Given the description of an element on the screen output the (x, y) to click on. 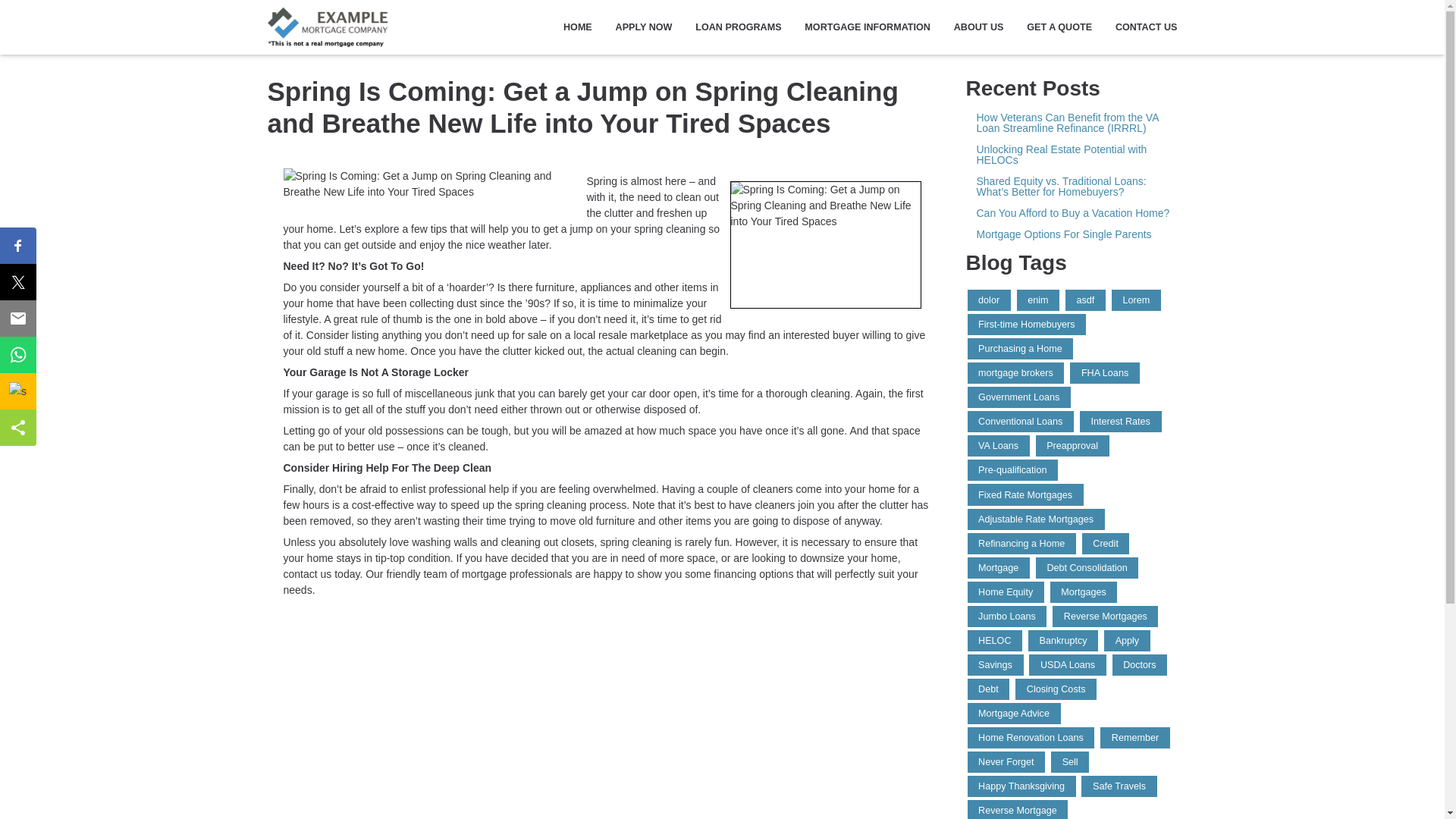
APPLY NOW (644, 27)
GET A QUOTE (1058, 27)
Unlocking Real Estate Potential with HELOCs (1071, 154)
Can You Afford to Buy a Vacation Home? (1071, 213)
Mortgage Options For Single Parents (1071, 234)
LOAN PROGRAMS (738, 27)
HOME (577, 27)
dolor (989, 300)
CONTACT US (1139, 27)
